Given the description of an element on the screen output the (x, y) to click on. 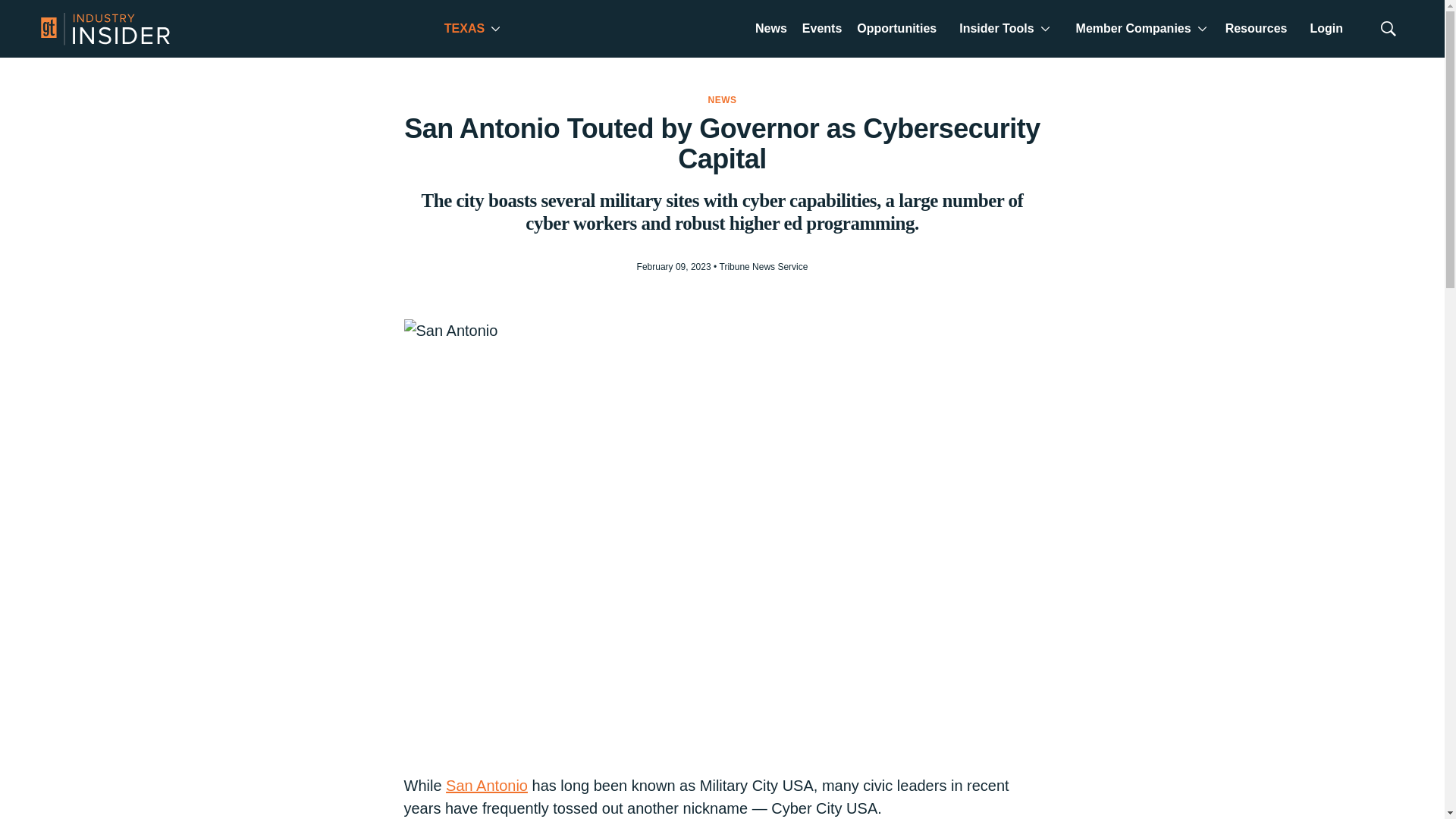
Events (821, 30)
News (771, 30)
Opportunities (895, 30)
